Given the description of an element on the screen output the (x, y) to click on. 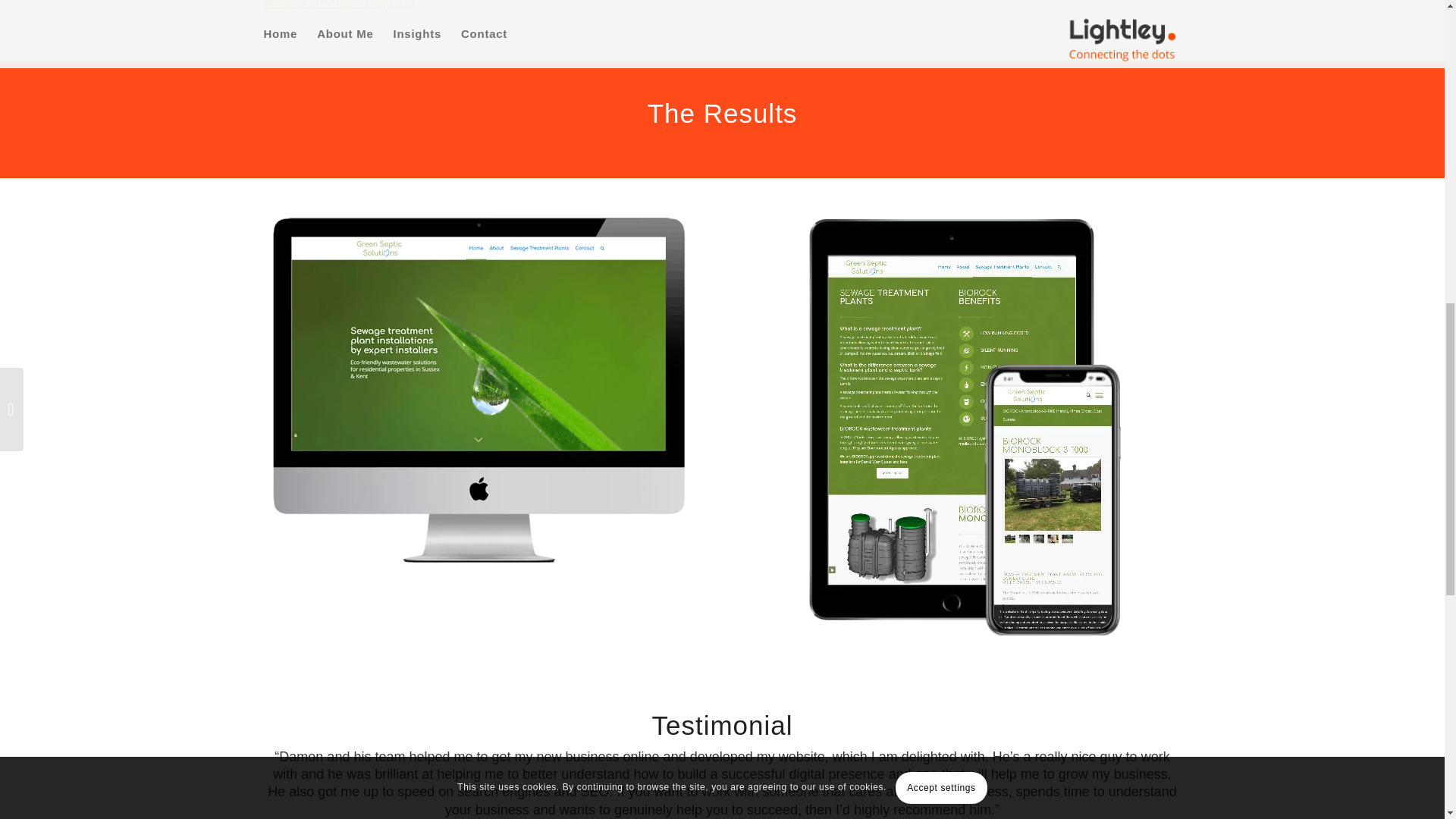
Website Development (322, 4)
SEO (401, 4)
